Given the description of an element on the screen output the (x, y) to click on. 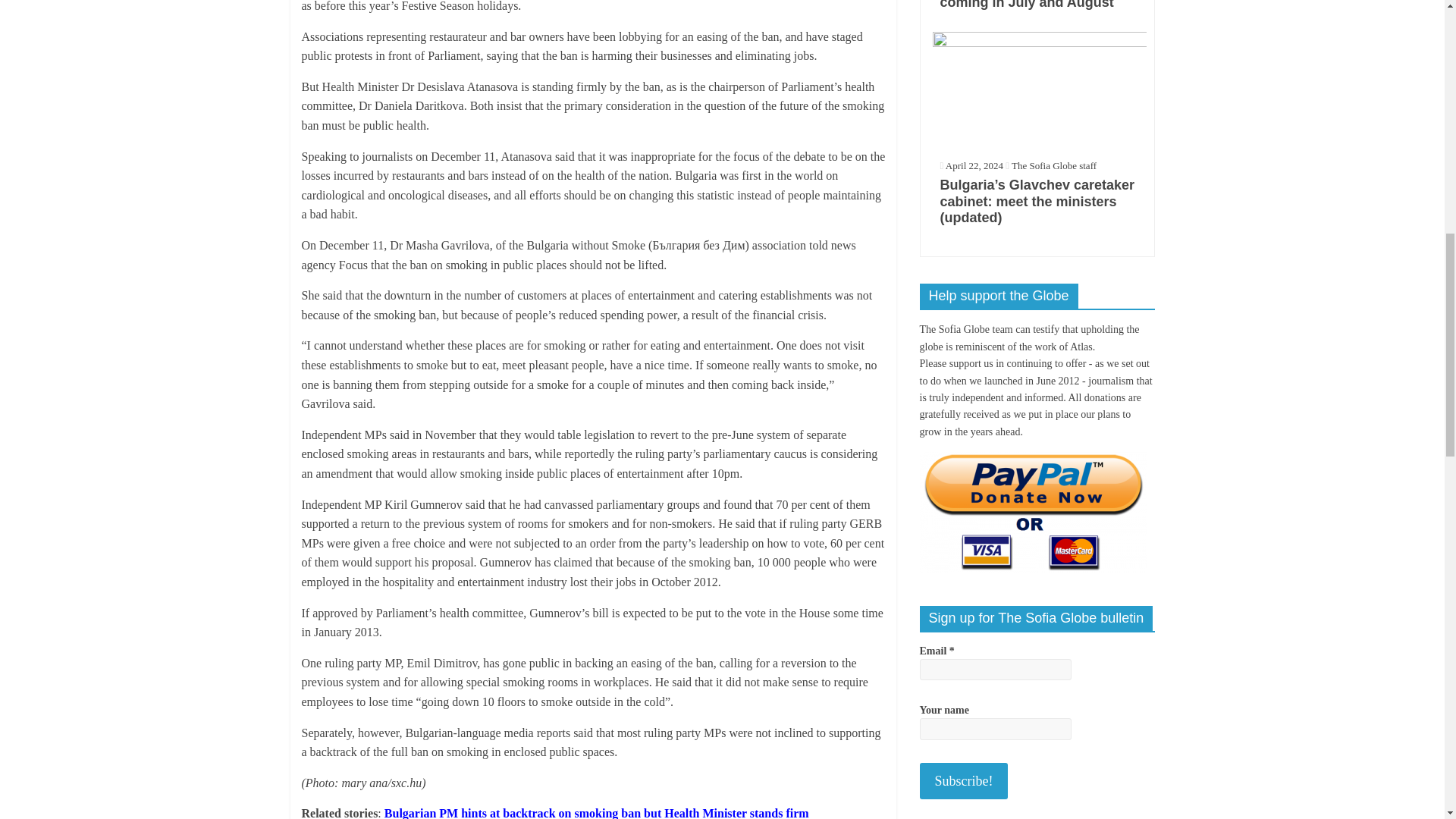
Subscribe! (962, 781)
